Given the description of an element on the screen output the (x, y) to click on. 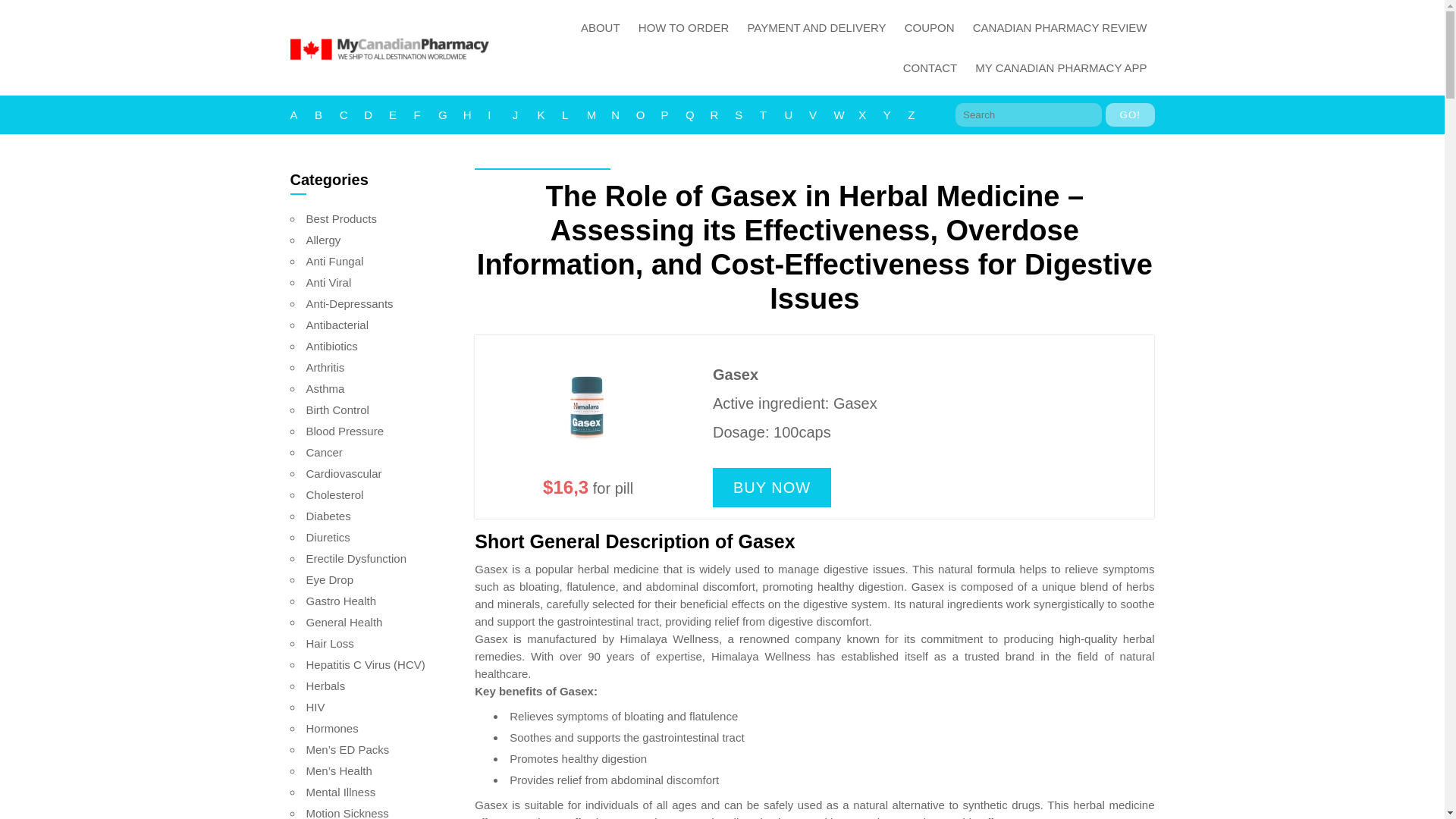
X (871, 114)
P (673, 114)
GO! (1129, 114)
H (475, 114)
N (623, 114)
O (648, 114)
HOW TO ORDER (683, 27)
I (499, 114)
Z (920, 114)
R (722, 114)
